Given the description of an element on the screen output the (x, y) to click on. 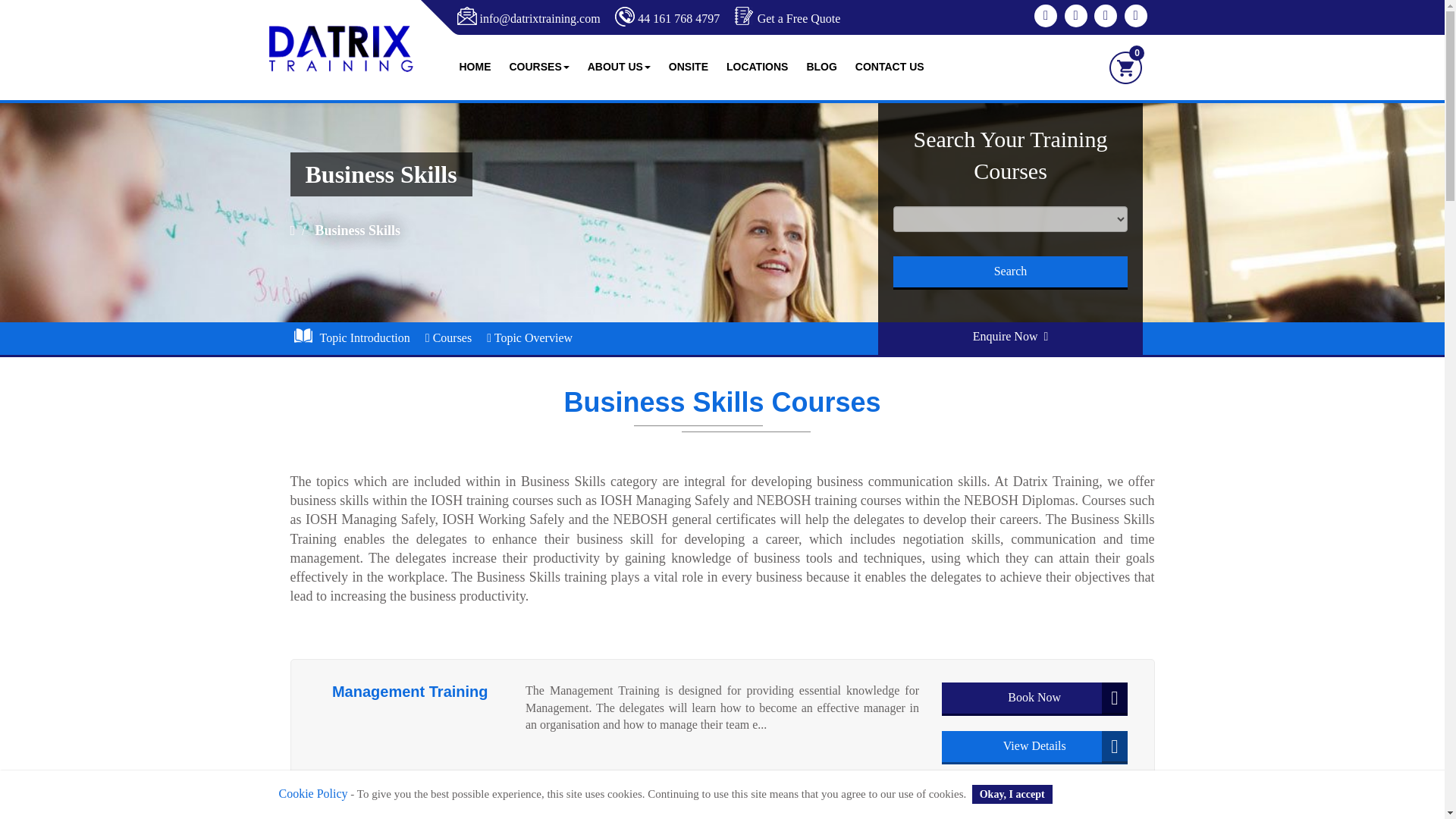
44 161 768 4797 (678, 18)
Topic Overview (529, 337)
LOCATIONS (756, 66)
Topic Introduction (348, 337)
Get a Free Quote (799, 18)
Search (1010, 272)
ONSITE (688, 66)
COURSES (539, 66)
Enquire Now   (1009, 338)
Datrix Training (339, 48)
